Given the description of an element on the screen output the (x, y) to click on. 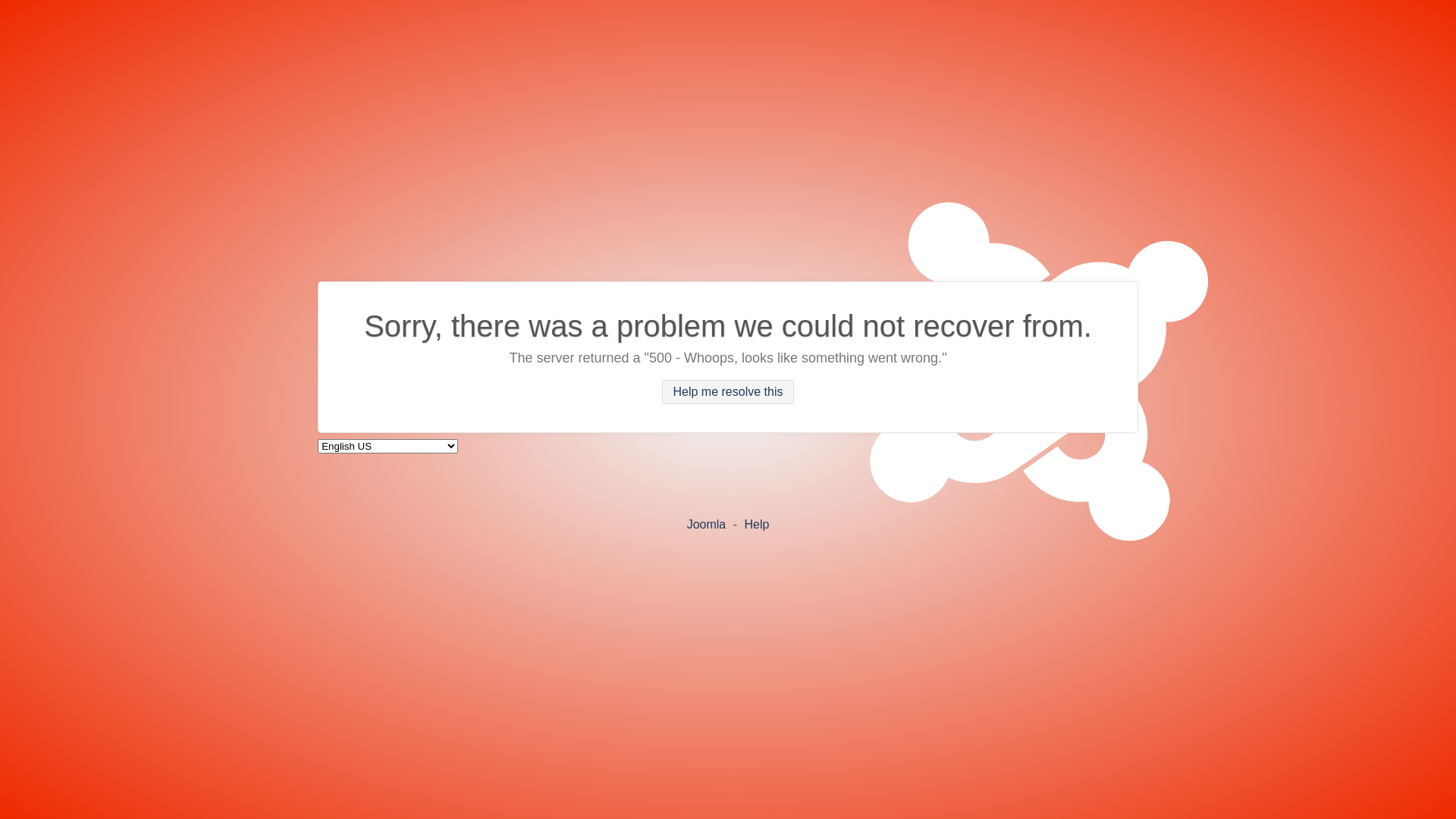
Joomla Element type: text (706, 523)
Help Element type: text (755, 523)
Help me resolve this Element type: text (727, 391)
